Given the description of an element on the screen output the (x, y) to click on. 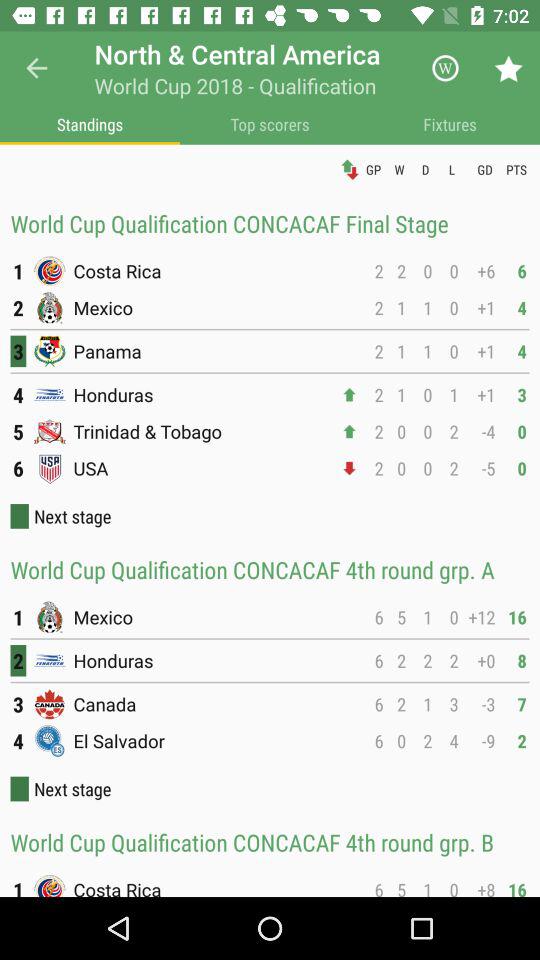
tap the top scorers item (270, 124)
